Given the description of an element on the screen output the (x, y) to click on. 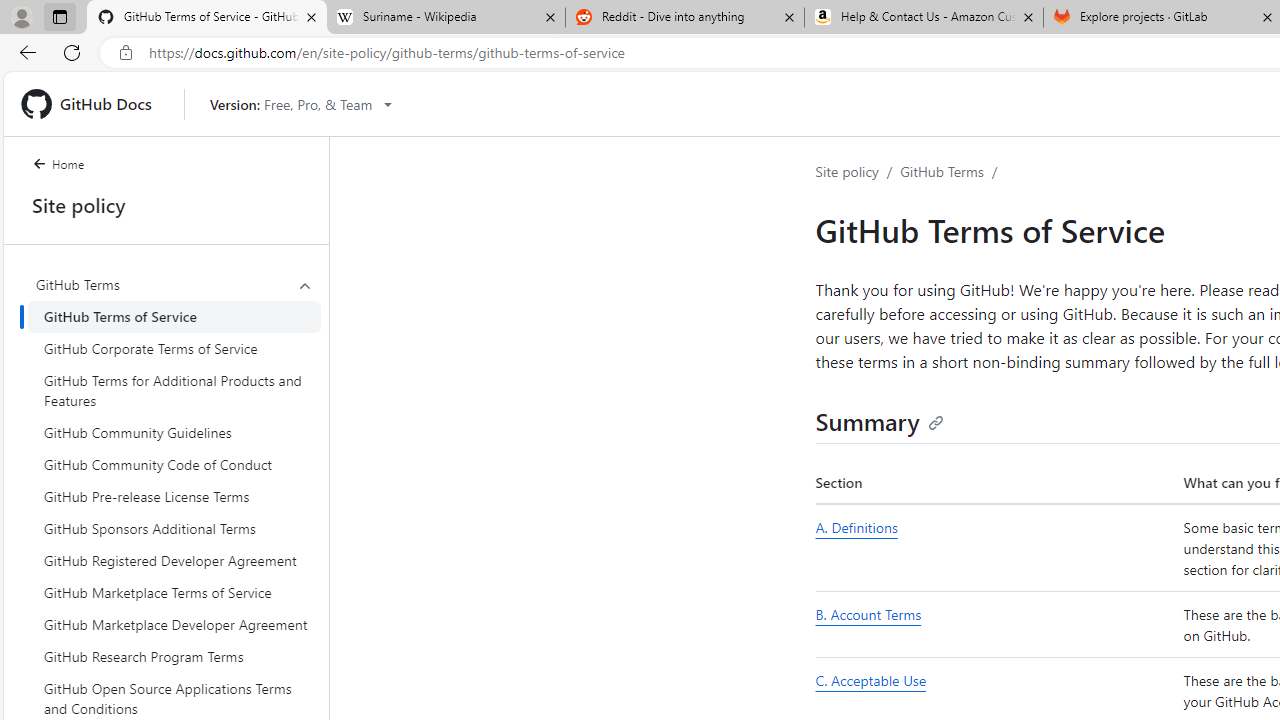
GitHub Community Guidelines (174, 432)
Summary (879, 420)
GitHub Marketplace Developer Agreement (174, 624)
GitHub Terms for Additional Products and Features (174, 390)
Section (995, 483)
GitHub Pre-release License Terms (174, 496)
GitHub Marketplace Terms of Service (174, 592)
GitHub Sponsors Additional Terms (174, 528)
GitHub Community Code of Conduct (174, 464)
GitHub Terms of Service - GitHub Docs (207, 17)
GitHub Corporate Terms of Service (174, 348)
Site policy (847, 171)
